Given the description of an element on the screen output the (x, y) to click on. 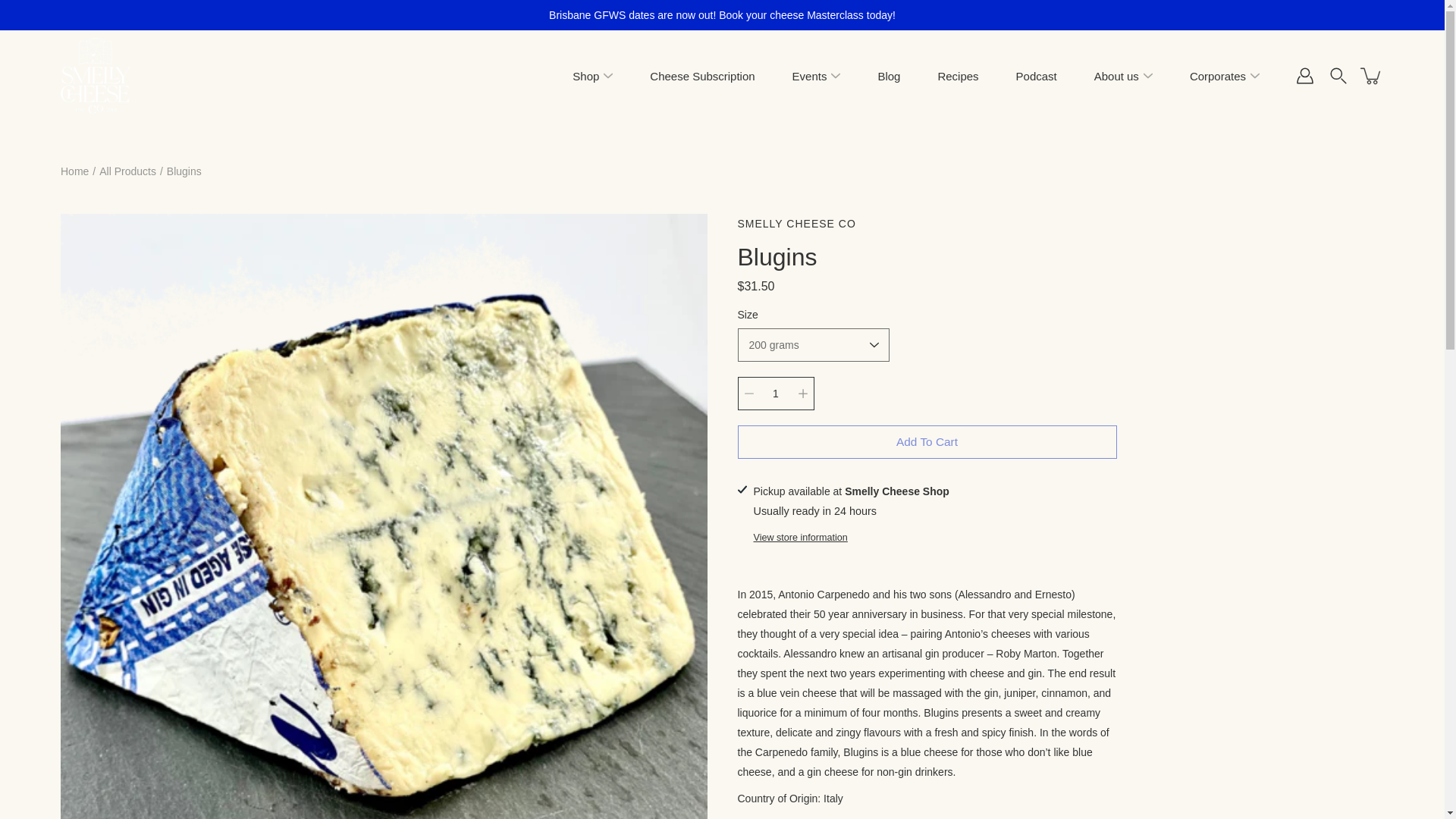
Back to the Homepage (74, 171)
Podcast (1036, 75)
Events (809, 75)
1 (774, 393)
Cheese Subscription (701, 75)
About us (1116, 75)
Shop (585, 75)
Blog (888, 75)
Recipes (957, 75)
